Given the description of an element on the screen output the (x, y) to click on. 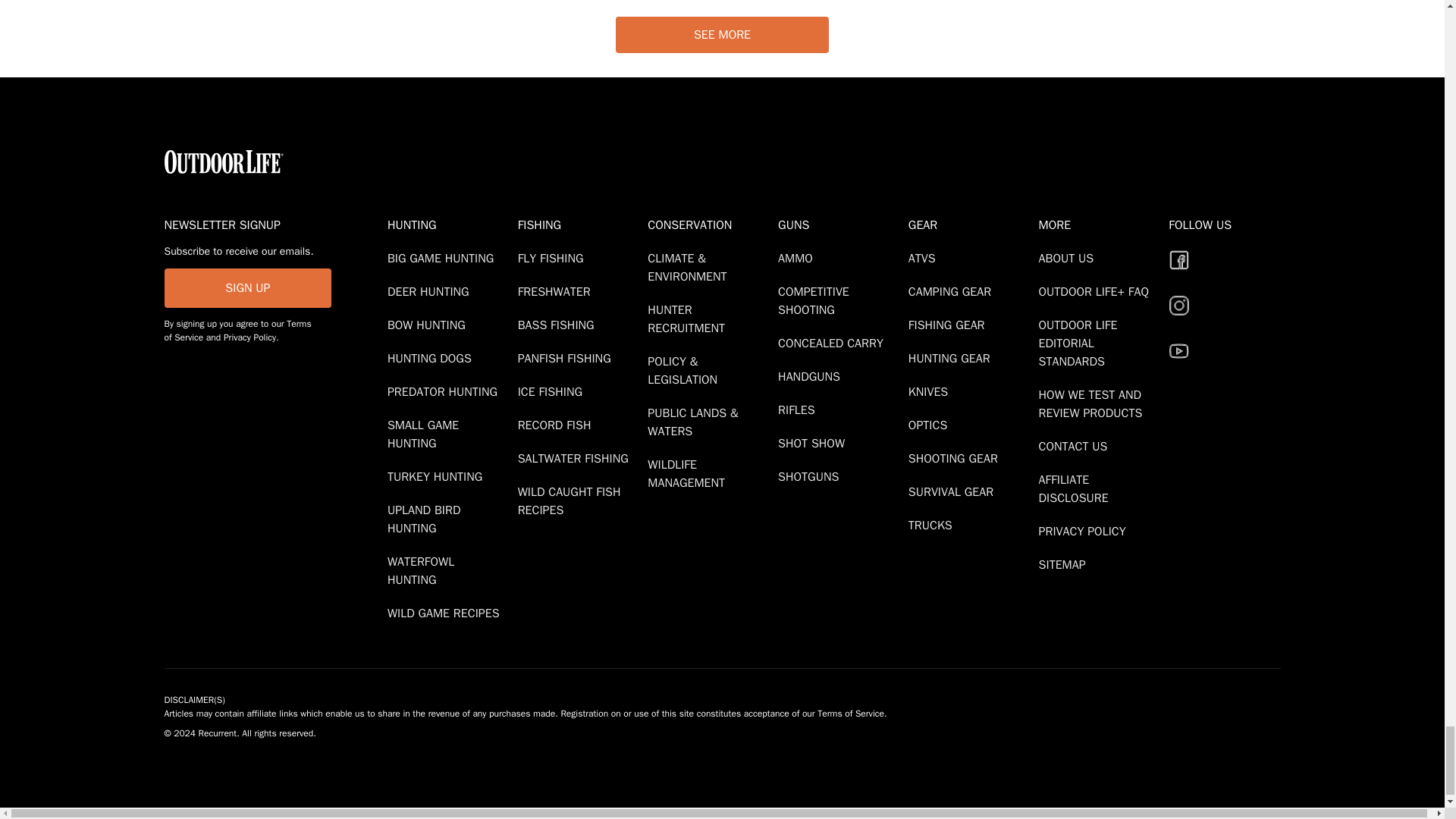
Big Game Hunting (443, 258)
Hunting (449, 225)
Deer Hunting (431, 291)
Fishing (580, 225)
Fly Fishing (553, 258)
Conservation (709, 225)
